Given the description of an element on the screen output the (x, y) to click on. 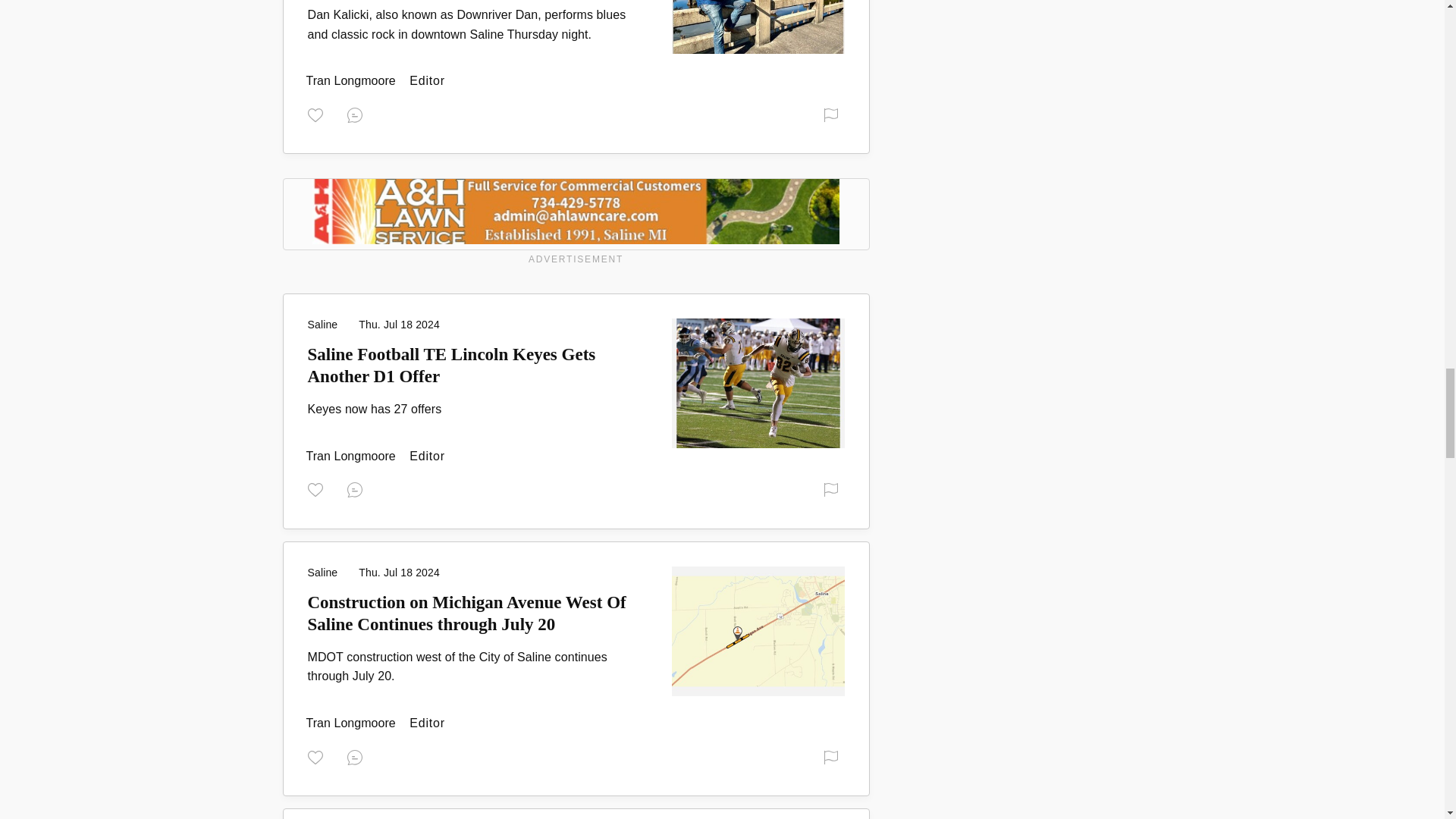
ADVERTISEMENT (575, 223)
Editor (351, 80)
